Given the description of an element on the screen output the (x, y) to click on. 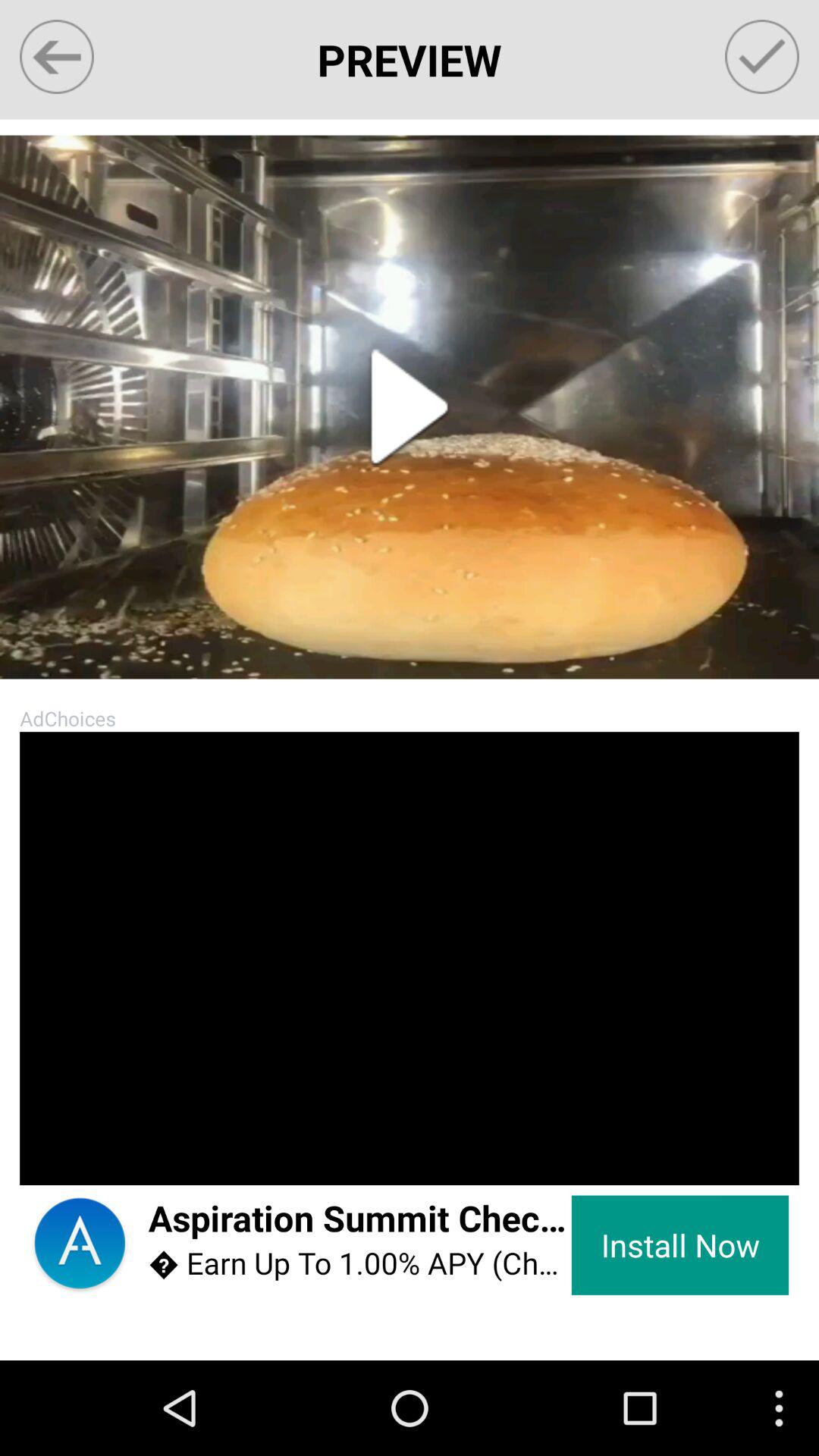
mark as done (762, 56)
